Given the description of an element on the screen output the (x, y) to click on. 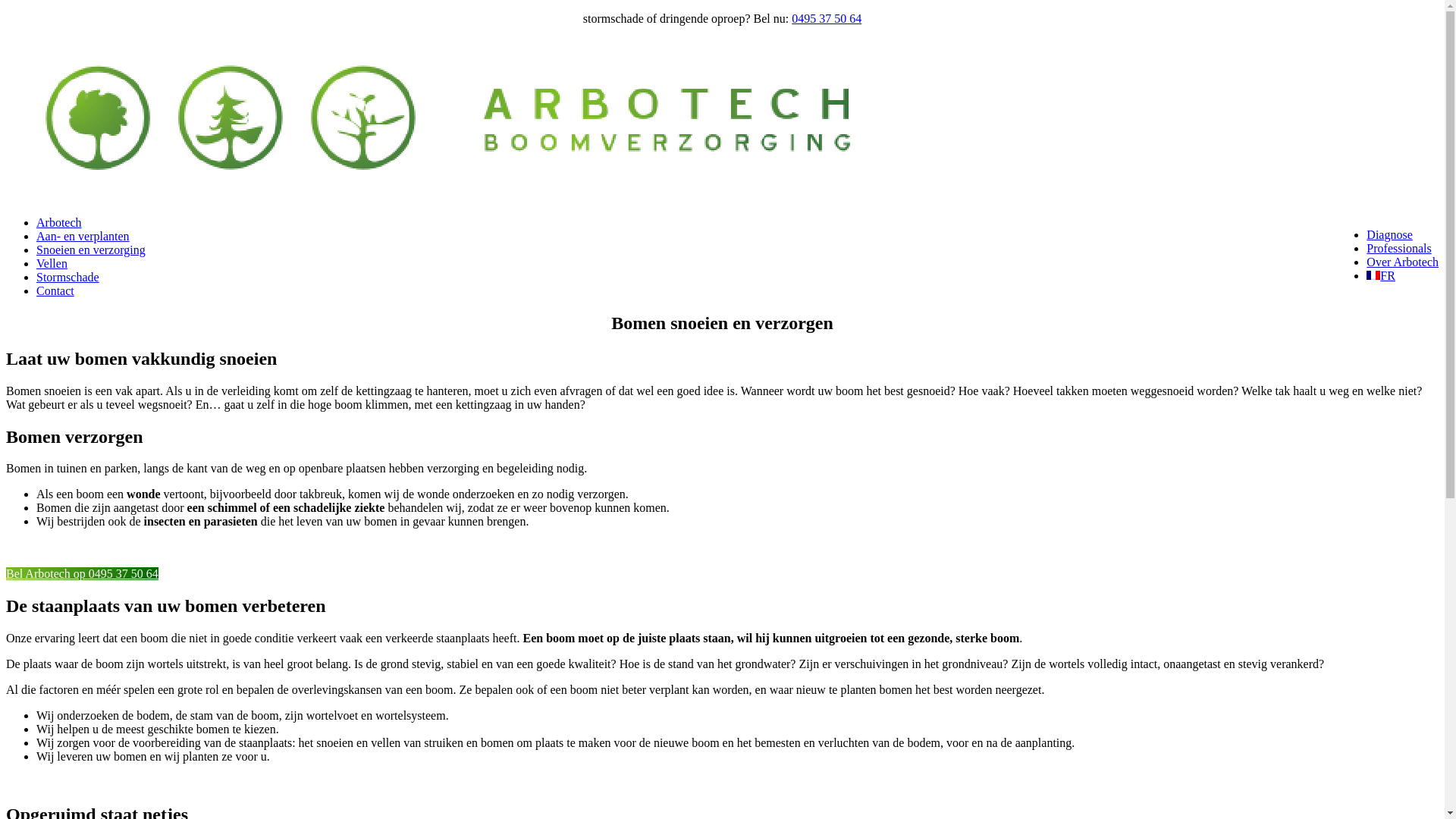
Bel Arbotech op 0495 37 50 64 Element type: text (82, 573)
Professionals Element type: text (1398, 247)
Vellen Element type: text (51, 263)
0495 37 50 64 Element type: text (826, 18)
Aan- en verplanten Element type: text (82, 235)
Contact Element type: text (55, 290)
Diagnose Element type: text (1389, 234)
FR Element type: text (1380, 275)
Arbotech Element type: text (58, 222)
Over Arbotech Element type: text (1402, 261)
Snoeien en verzorging Element type: text (90, 249)
Stormschade Element type: text (67, 276)
